Given the description of an element on the screen output the (x, y) to click on. 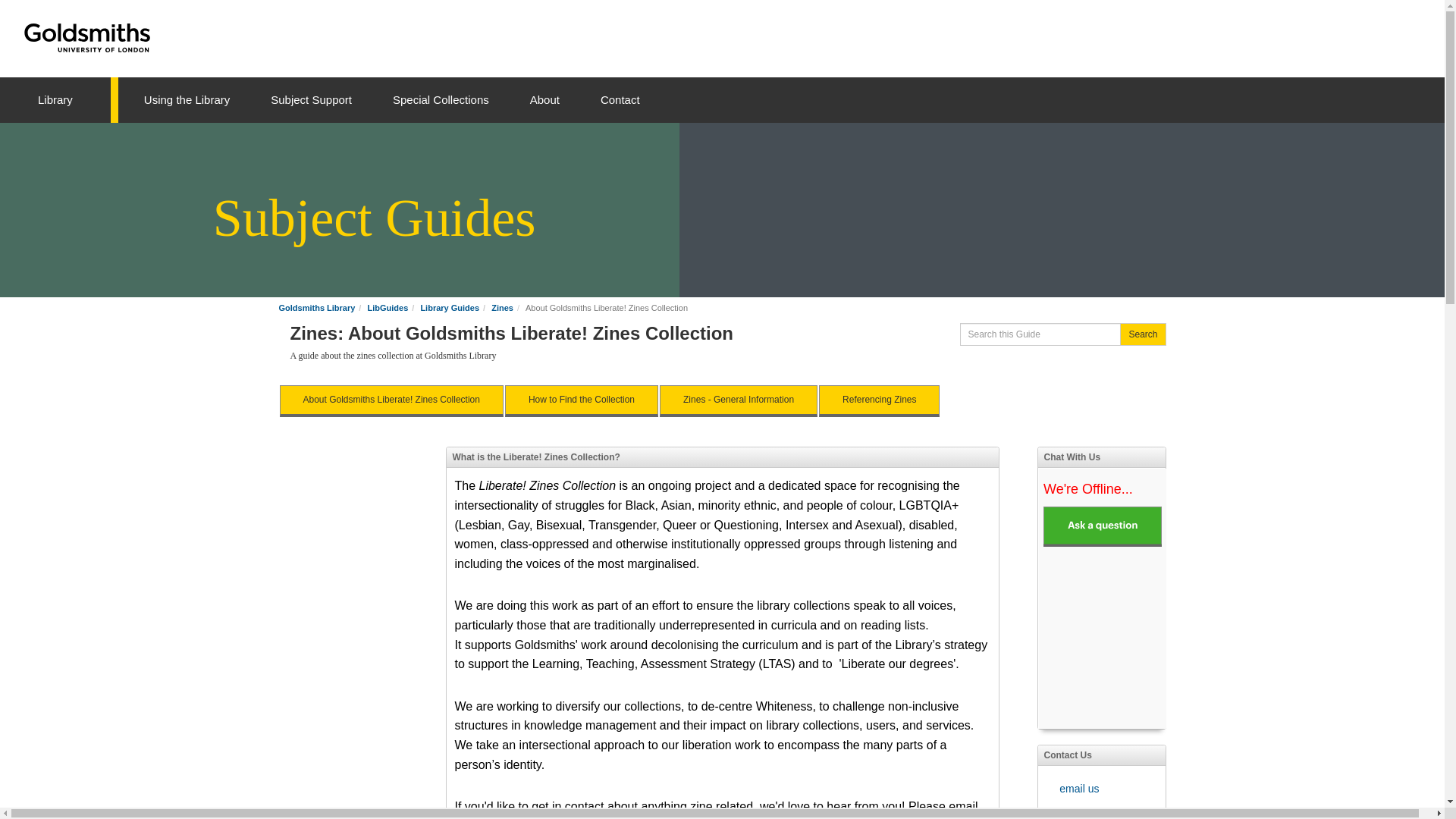
Goldsmiths Library (317, 307)
About (544, 99)
email us (1079, 788)
About Goldsmiths Liberate! Zines Collection (390, 400)
How to Find the Collection (581, 400)
LibGuides (386, 307)
Special Collections (441, 99)
Contact (619, 99)
Search (1142, 333)
Subject Support (311, 99)
Referencing Zines (878, 400)
Library Guides (449, 307)
Zines - General Information (737, 400)
Zines (502, 307)
Using the Library (187, 99)
